Given the description of an element on the screen output the (x, y) to click on. 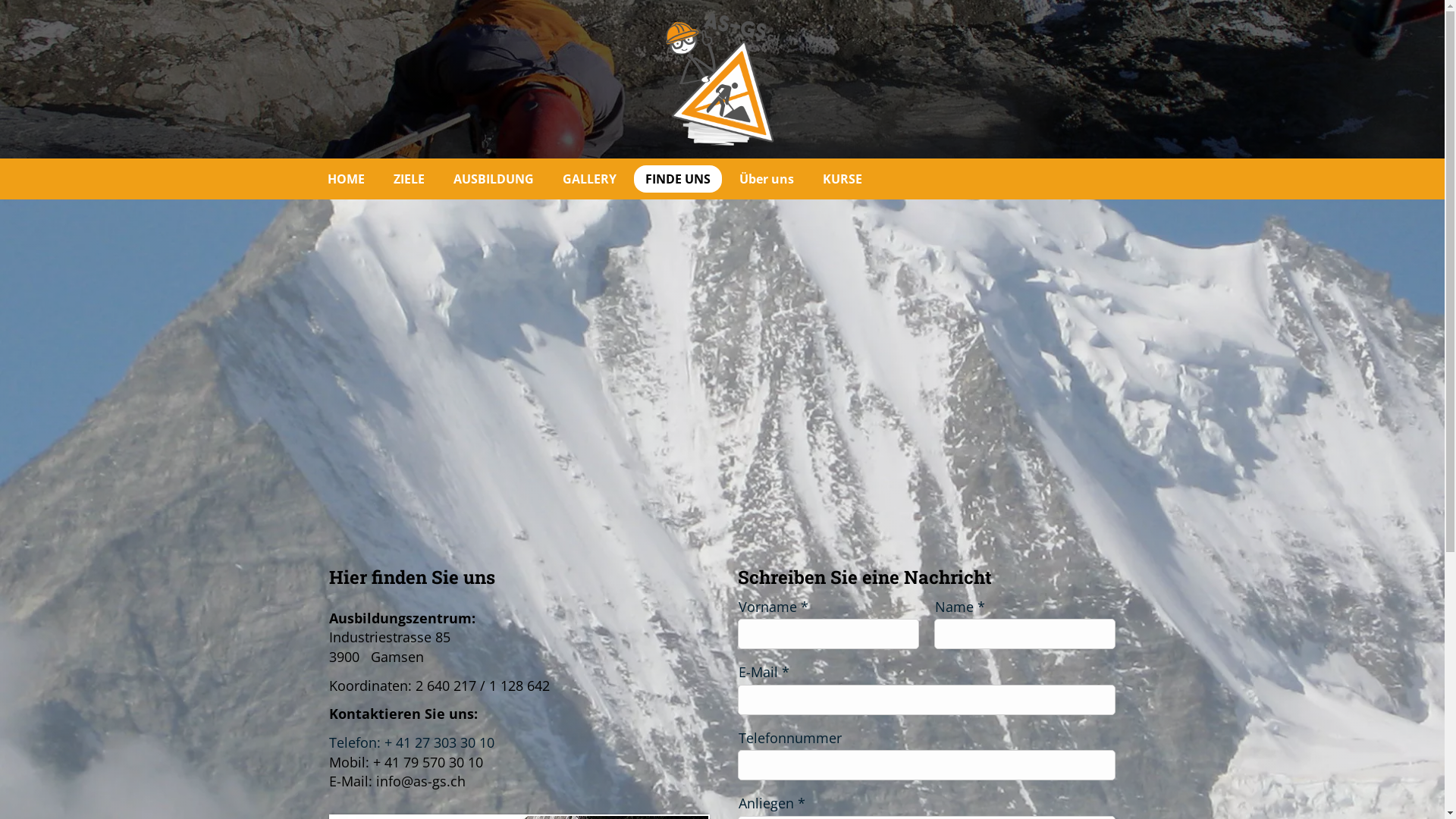
HOME Element type: text (345, 178)
ZIELE Element type: text (409, 178)
AUSBILDUNG Element type: text (492, 178)
KURSE Element type: text (842, 178)
GALLERY Element type: text (588, 178)
FINDE UNS Element type: text (677, 178)
